Given the description of an element on the screen output the (x, y) to click on. 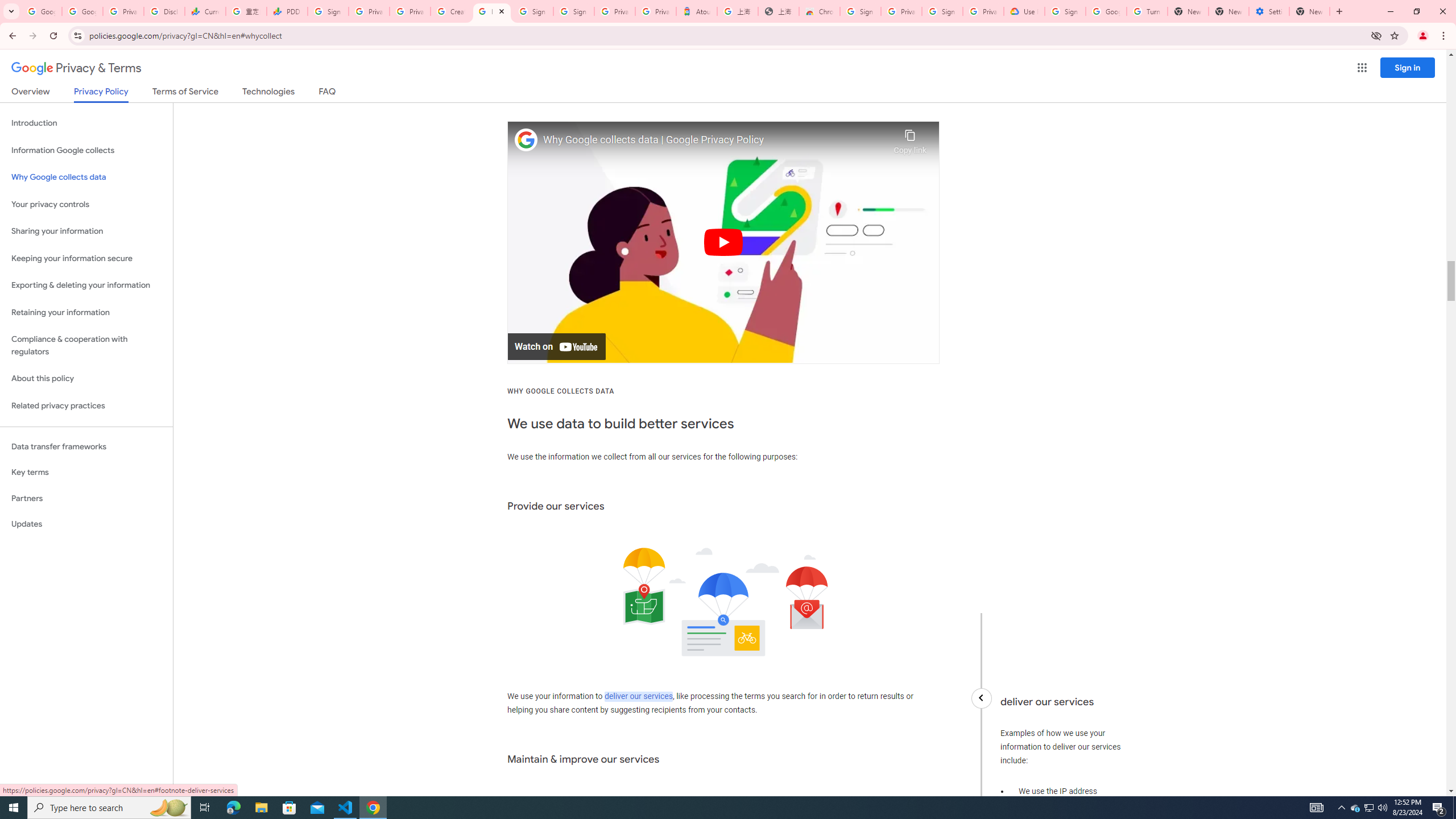
Watch on YouTube (556, 346)
Sign in - Google Accounts (860, 11)
Sign in - Google Accounts (532, 11)
